Given the description of an element on the screen output the (x, y) to click on. 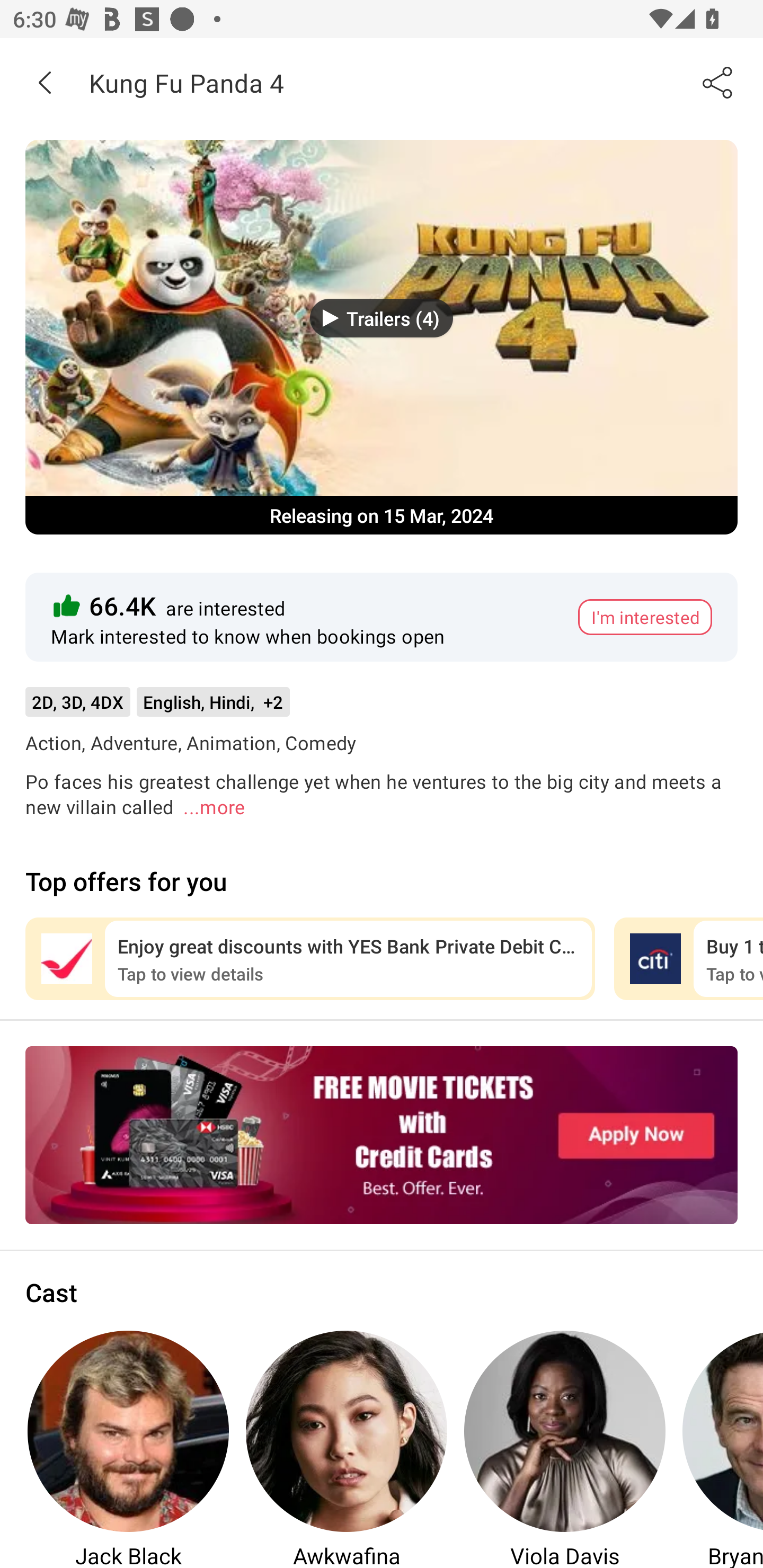
Back (44, 82)
Share (718, 82)
Trailers (4) (381, 318)
I'm interested (644, 616)
2D, 3D, 4DX English, Hindi,  +2 (157, 707)
Jack Black (128, 1448)
Awkwafina (346, 1448)
Viola Davis (564, 1448)
